Given the description of an element on the screen output the (x, y) to click on. 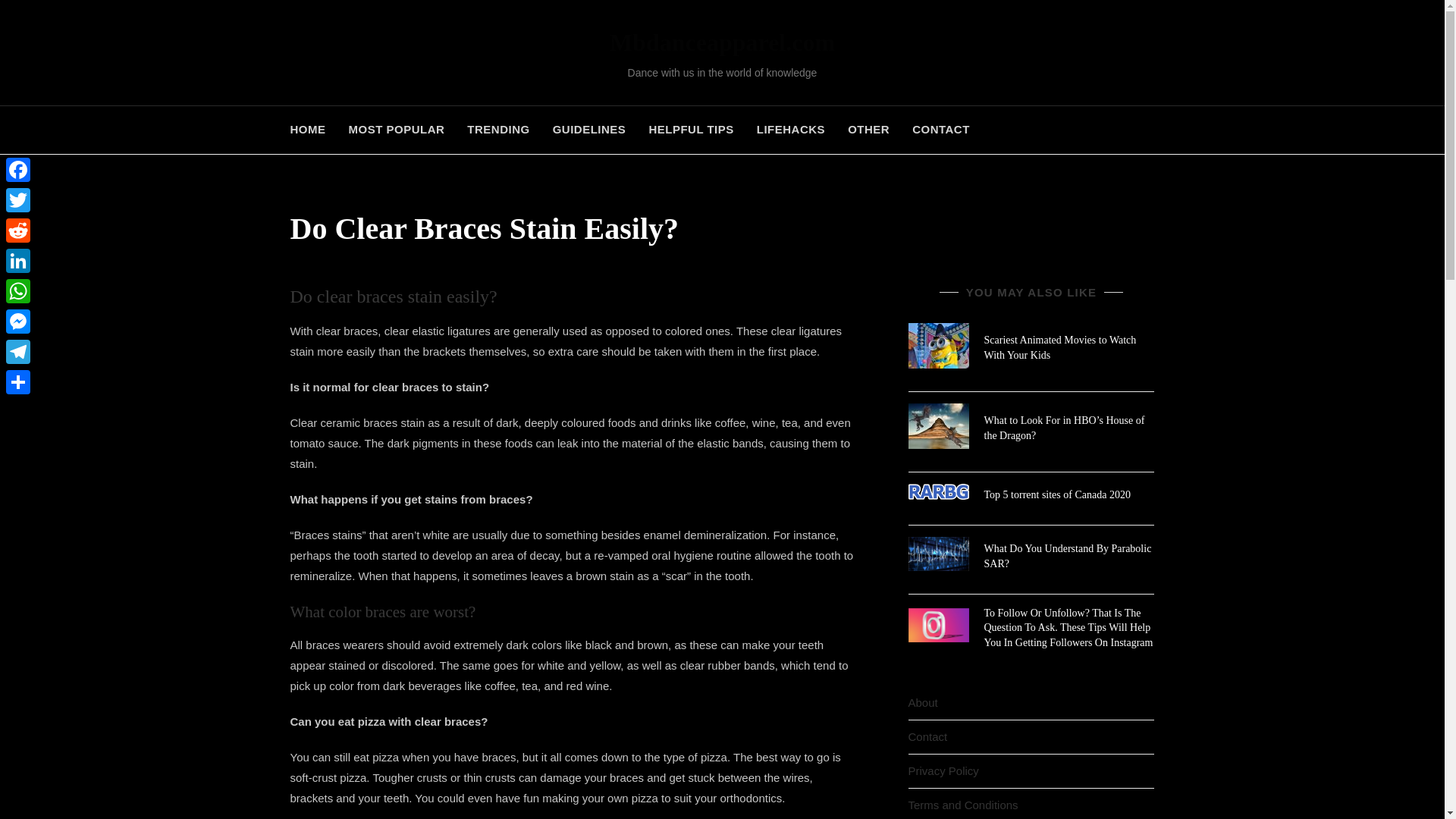
WhatsApp (17, 291)
HELPFUL TIPS (690, 129)
TRENDING (497, 129)
Scariest Animated Movies to Watch With Your Kids (1060, 347)
Messenger (17, 321)
Facebook (17, 169)
CONTACT (941, 129)
Twitter (17, 200)
OTHER (868, 129)
Telegram (17, 351)
GUIDELINES (589, 129)
MOST POPULAR (395, 129)
Mbdanceapparel.com (722, 42)
LIFEHACKS (790, 129)
LinkedIn (17, 260)
